Given the description of an element on the screen output the (x, y) to click on. 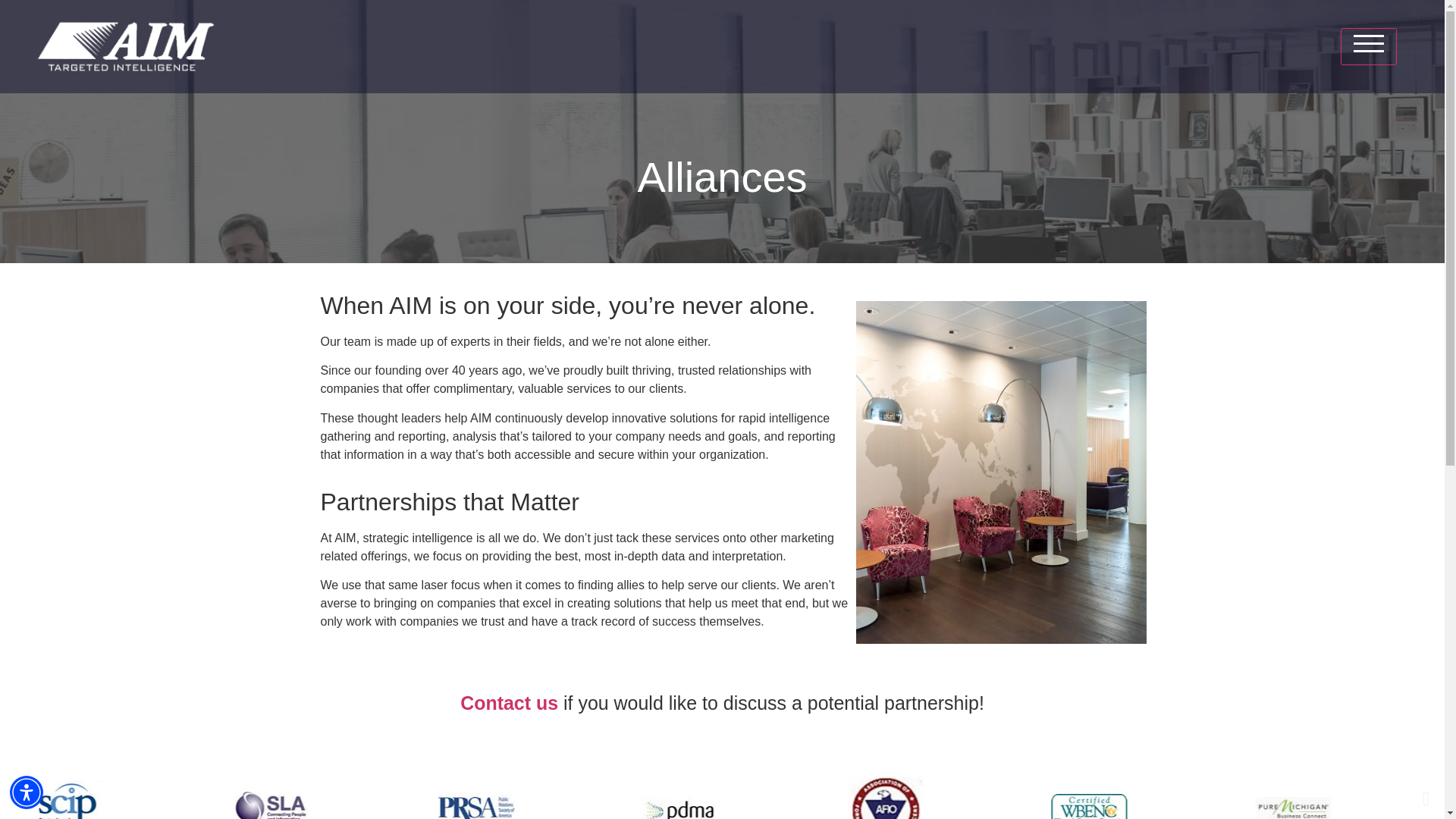
Alliances 7 (68, 800)
Contact us (508, 702)
Alliances 11 (477, 805)
Accessibility Menu (26, 792)
Alliances 9 (272, 800)
